Given the description of an element on the screen output the (x, y) to click on. 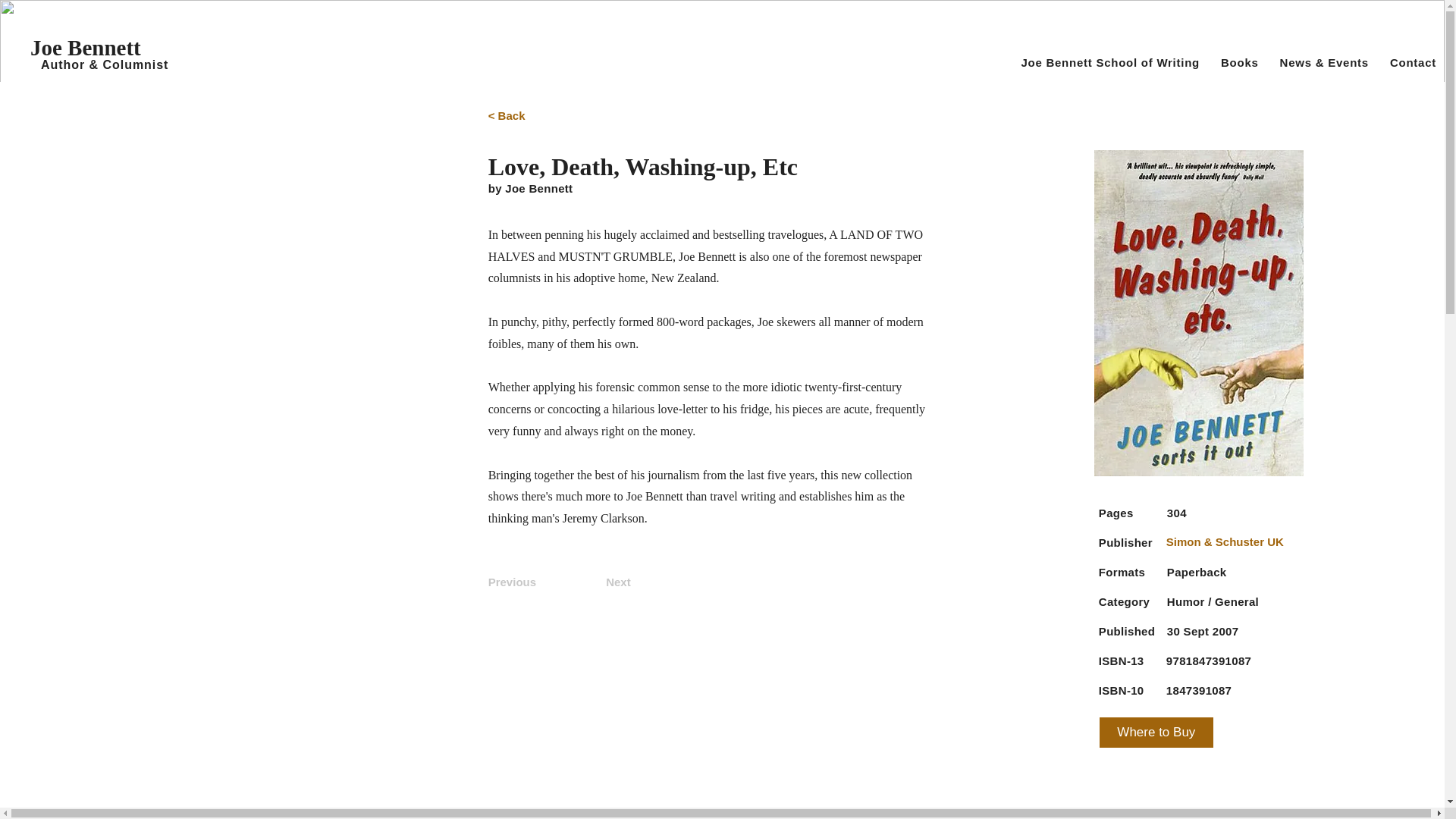
Contact (1412, 62)
Books (1239, 62)
Joe Bennett (85, 47)
Where to Buy (1155, 732)
Joe Bennett School of Writing (1110, 62)
Previous (525, 582)
Next (597, 582)
